Given the description of an element on the screen output the (x, y) to click on. 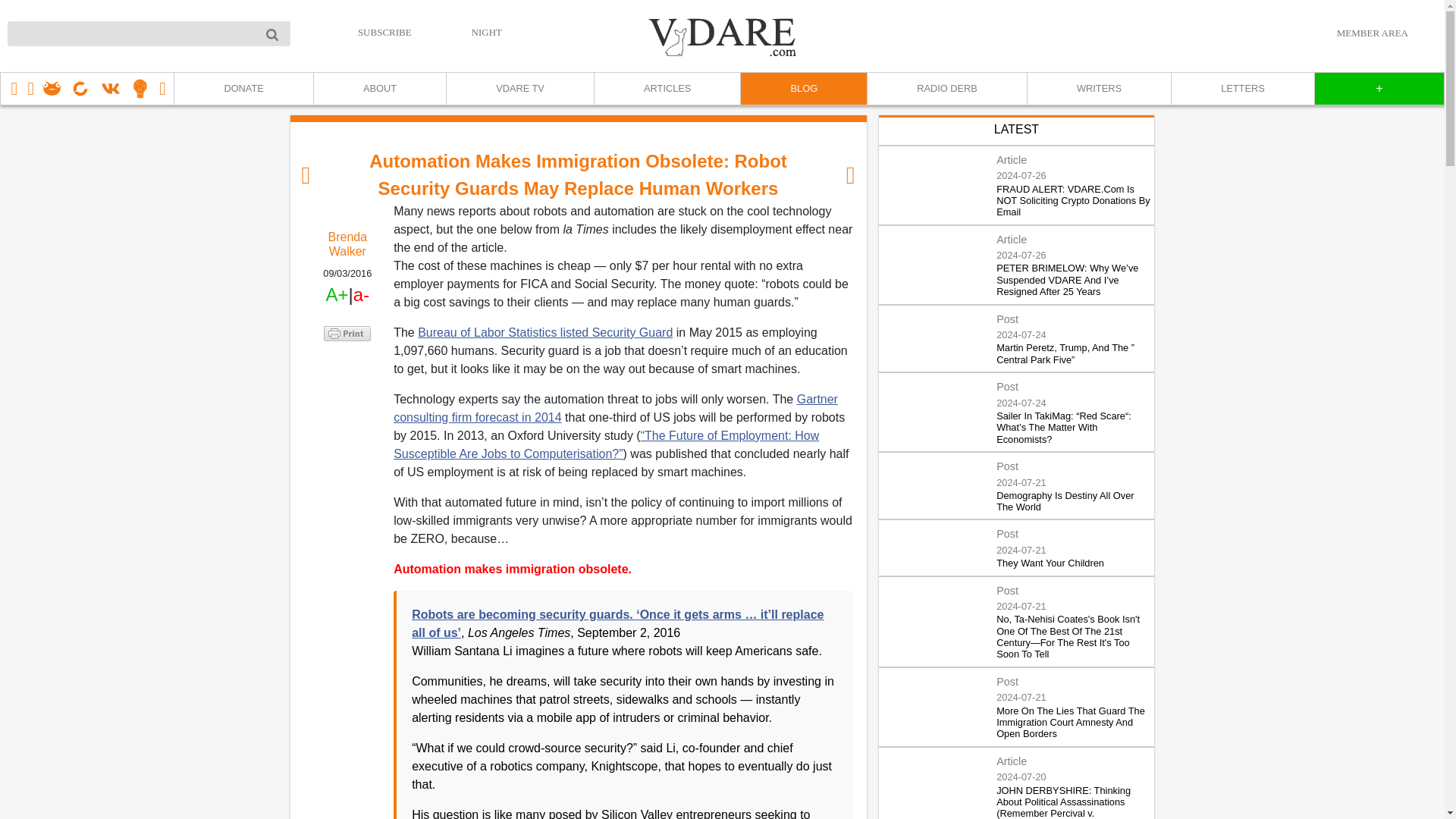
BLOG (802, 88)
VDARE TV (519, 88)
LETTERS (1242, 88)
SUBSCRIBE (385, 31)
Share to Twitter (347, 372)
RADIO DERB (946, 88)
WRITERS (1098, 88)
ARTICLES (666, 88)
Printer Friendly and PDF (347, 333)
Share to Email (347, 418)
